Given the description of an element on the screen output the (x, y) to click on. 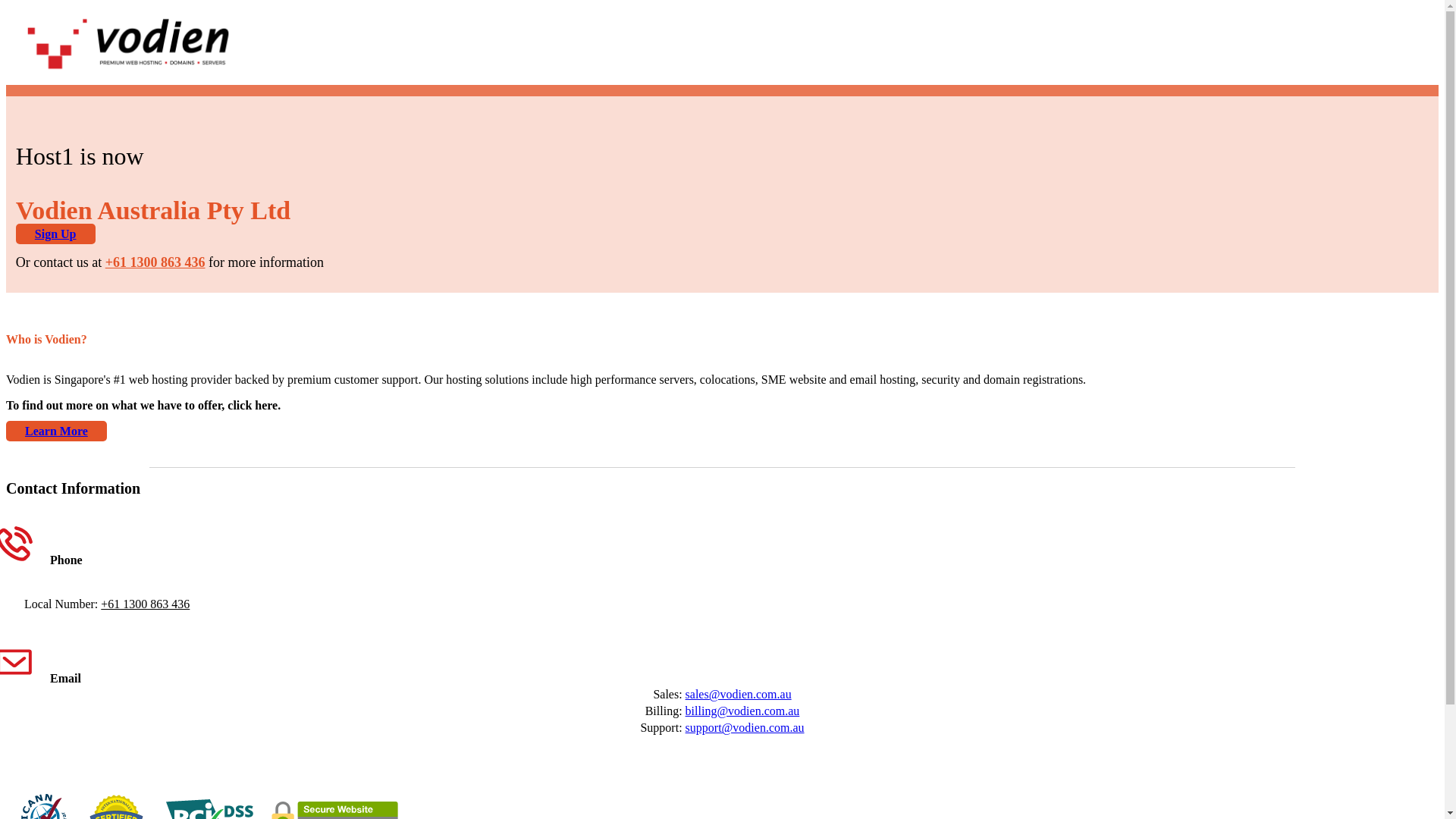
sales@vodien.com.au Element type: text (738, 693)
support@vodien.com.au Element type: text (744, 727)
billing@vodien.com.au Element type: text (742, 710)
+61 1300 863 436 Element type: text (144, 603)
Sign Up Element type: text (55, 233)
Learn More Element type: text (56, 430)
+61 1300 863 436 Element type: text (155, 261)
